Given the description of an element on the screen output the (x, y) to click on. 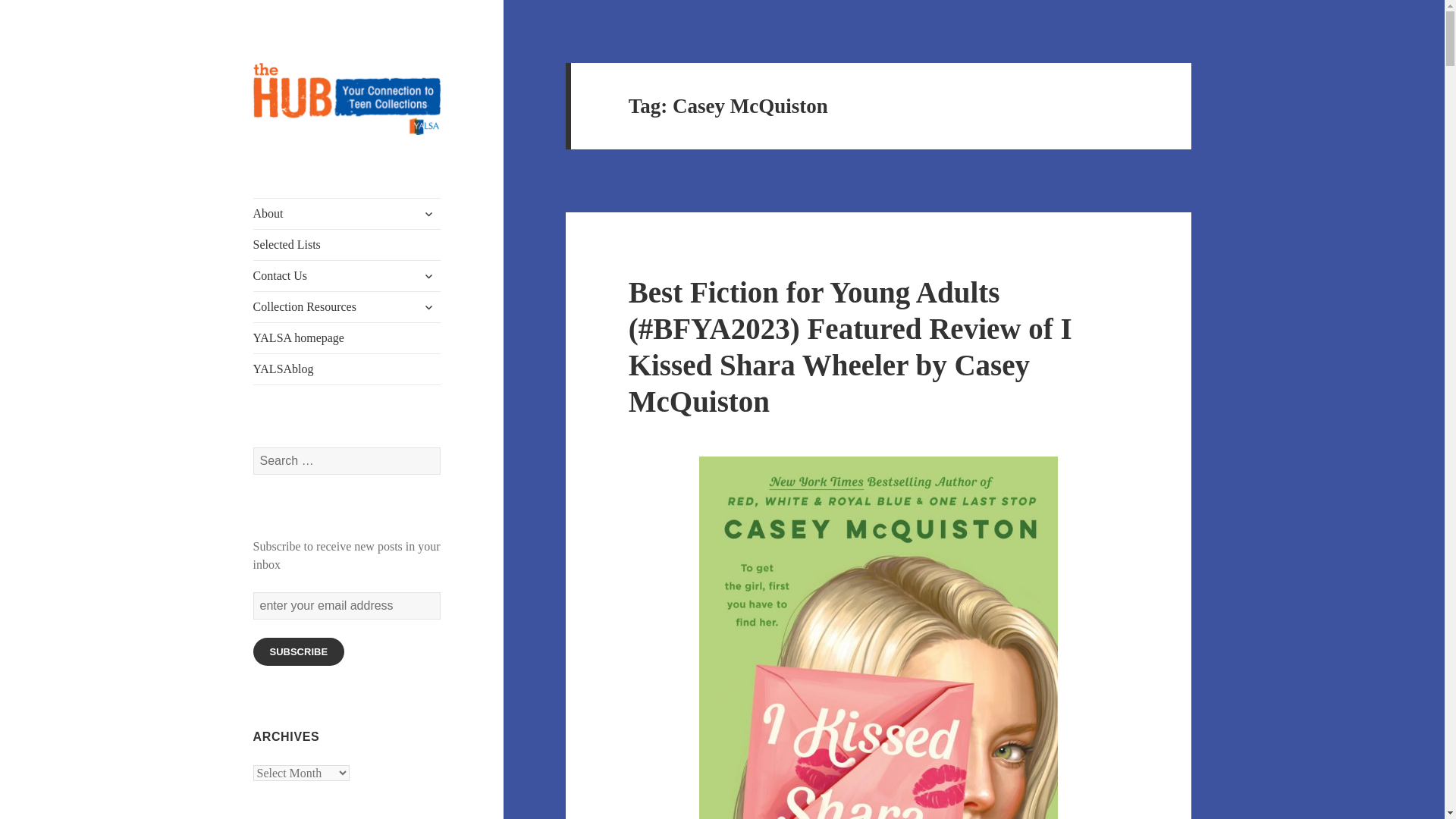
expand child menu (428, 275)
expand child menu (428, 213)
YALSAblog (347, 368)
About (347, 214)
YALSA homepage (347, 337)
SUBSCRIBE (299, 651)
expand child menu (428, 306)
Selected Lists (347, 245)
The Hub (293, 159)
Contact Us (347, 276)
Collection Resources (347, 306)
